Given the description of an element on the screen output the (x, y) to click on. 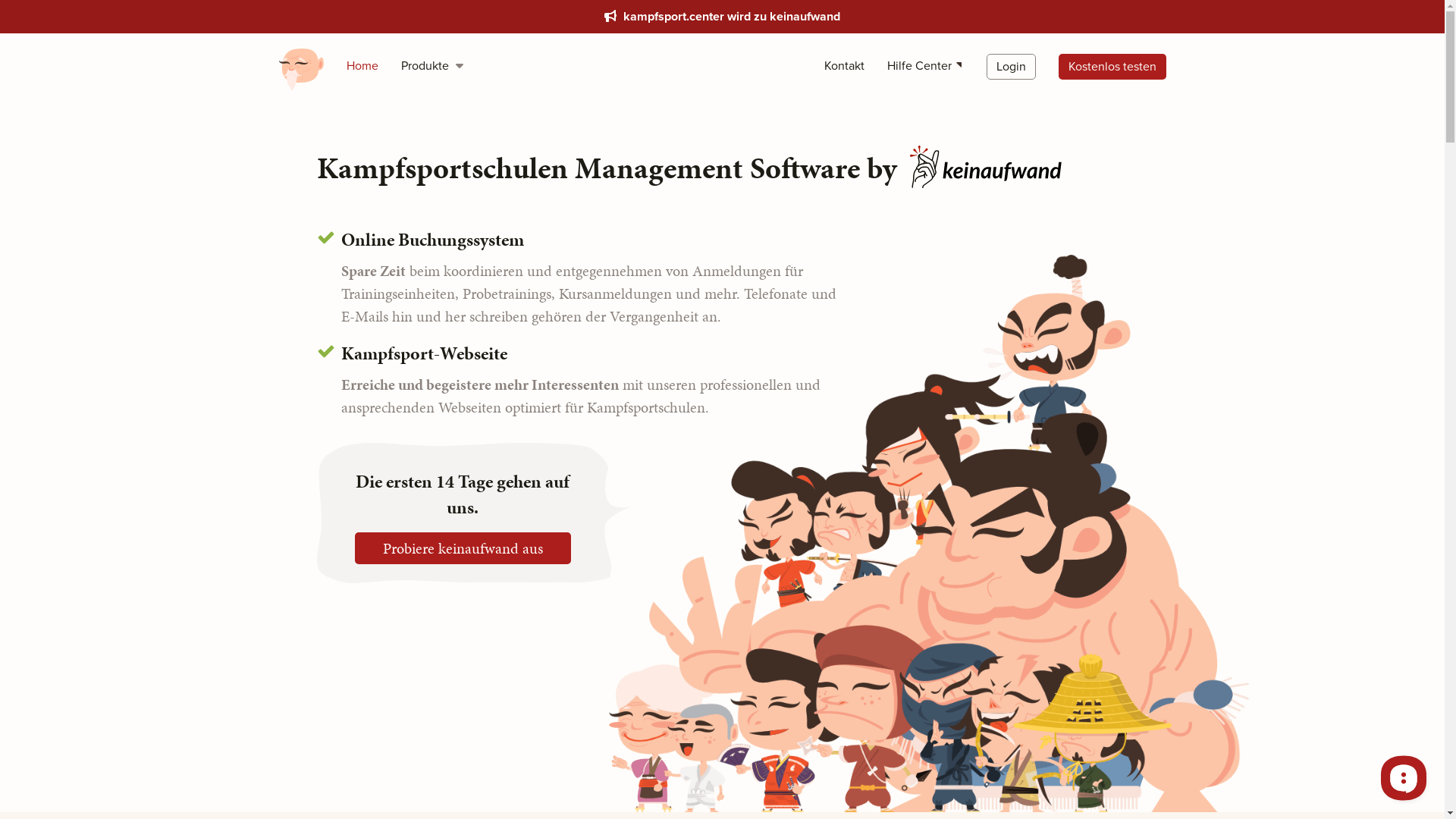
kampfsport.center wird zu keinaufwand Element type: text (722, 16)
Probiere keinaufwand aus Element type: text (462, 548)
Home Element type: text (362, 65)
Kostenlos testen Element type: text (1112, 66)
Produkte Element type: text (432, 65)
Hilfe Center Element type: text (925, 65)
Login Element type: text (1010, 66)
__replain_widget_iframe Element type: hover (1402, 776)
Kontakt Element type: text (843, 65)
